Given the description of an element on the screen output the (x, y) to click on. 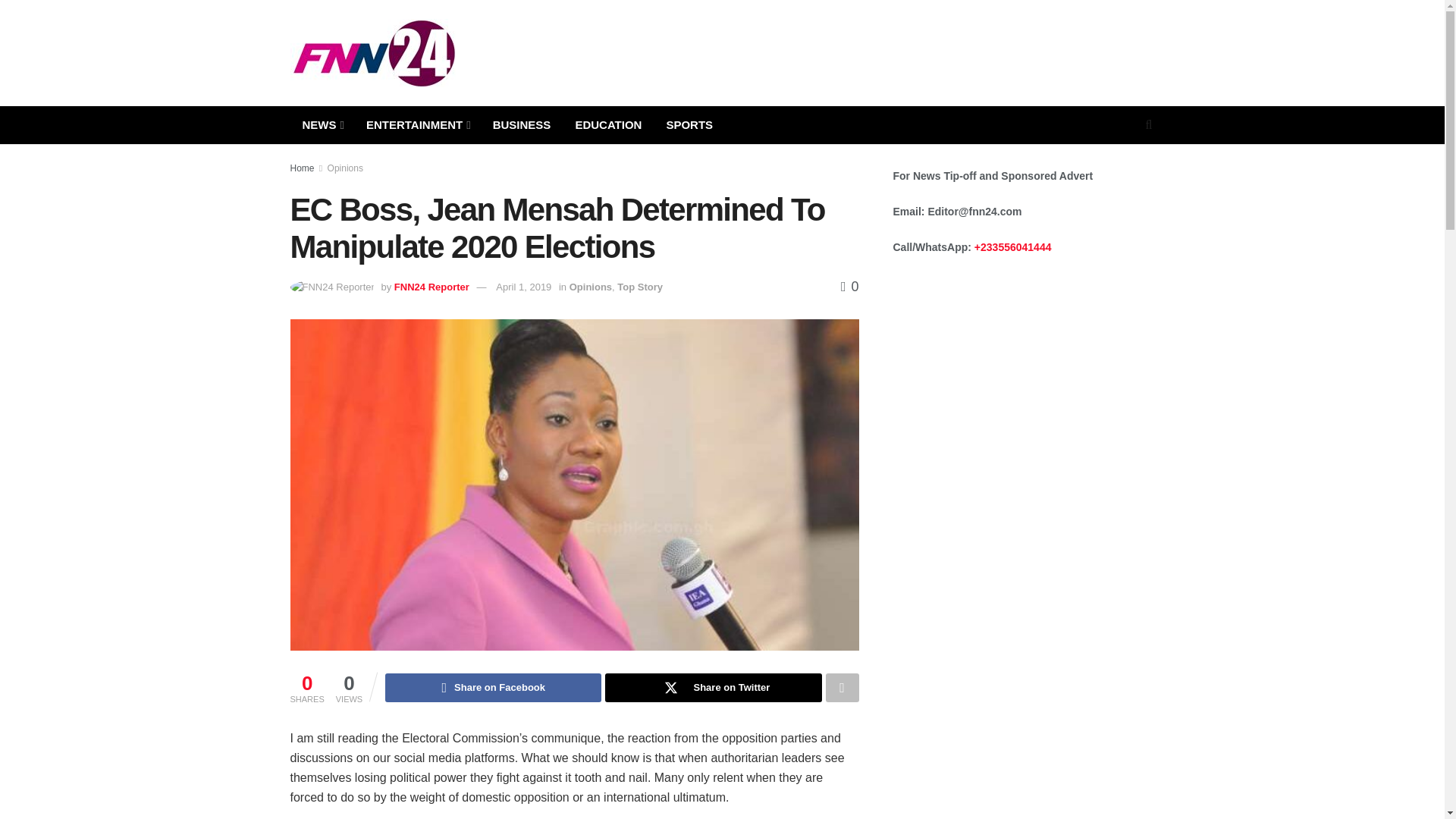
Opinions (344, 167)
SPORTS (689, 125)
NEWS (321, 125)
FNN24 Reporter (431, 286)
BUSINESS (521, 125)
EDUCATION (607, 125)
ENTERTAINMENT (416, 125)
Home (301, 167)
